Given the description of an element on the screen output the (x, y) to click on. 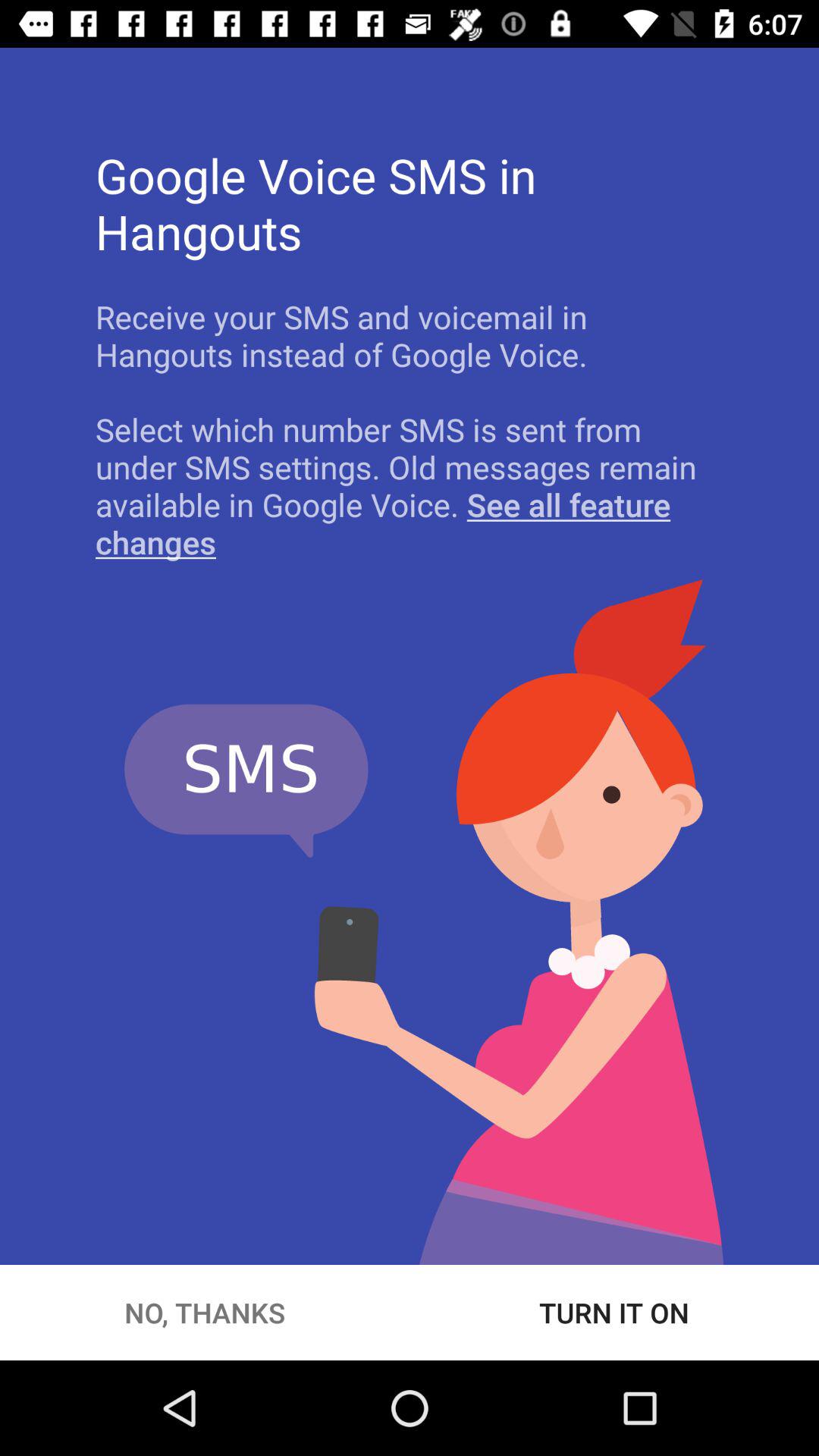
launch the button next to turn it on item (204, 1312)
